Given the description of an element on the screen output the (x, y) to click on. 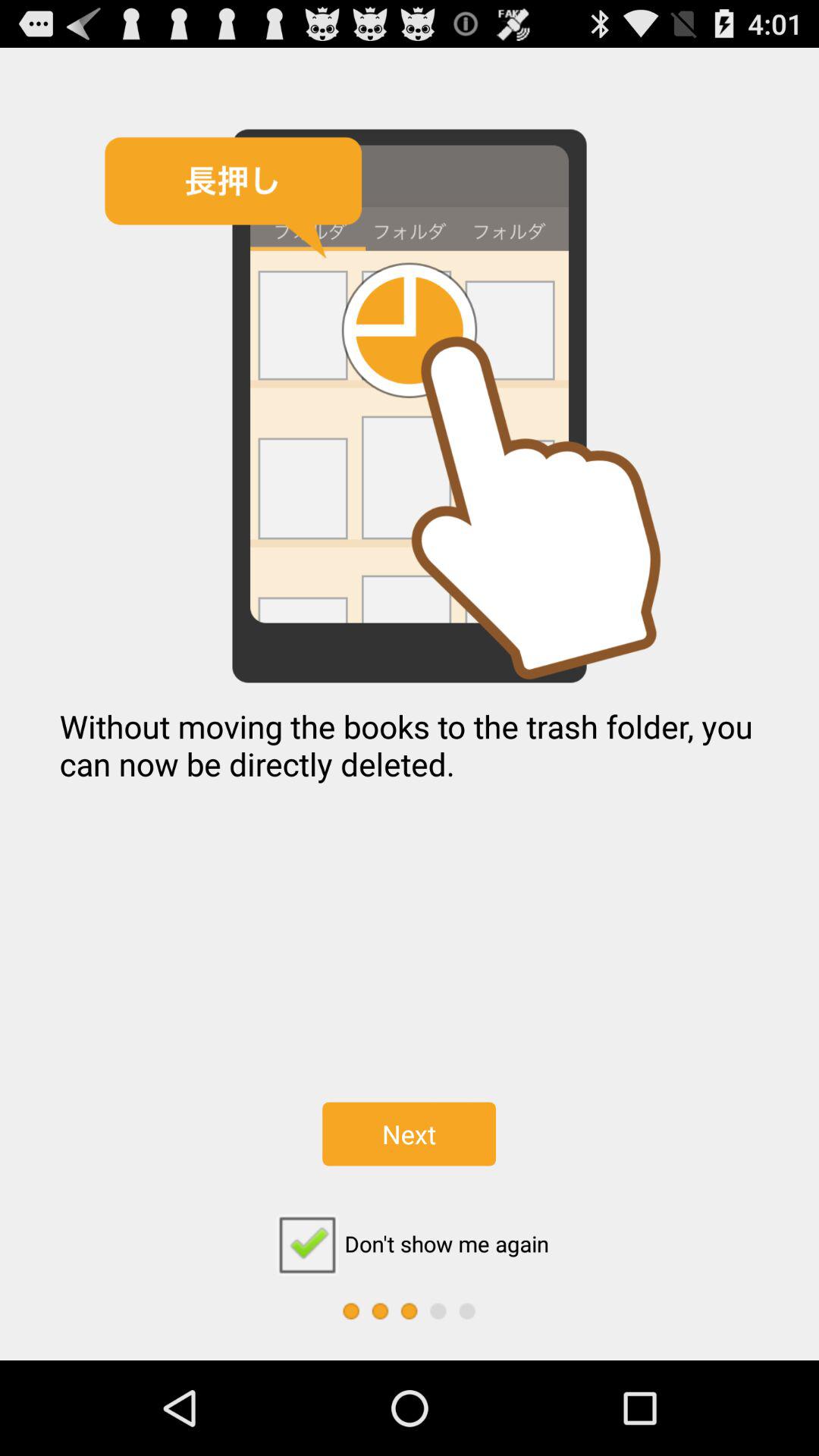
scroll to the next item (408, 1133)
